Given the description of an element on the screen output the (x, y) to click on. 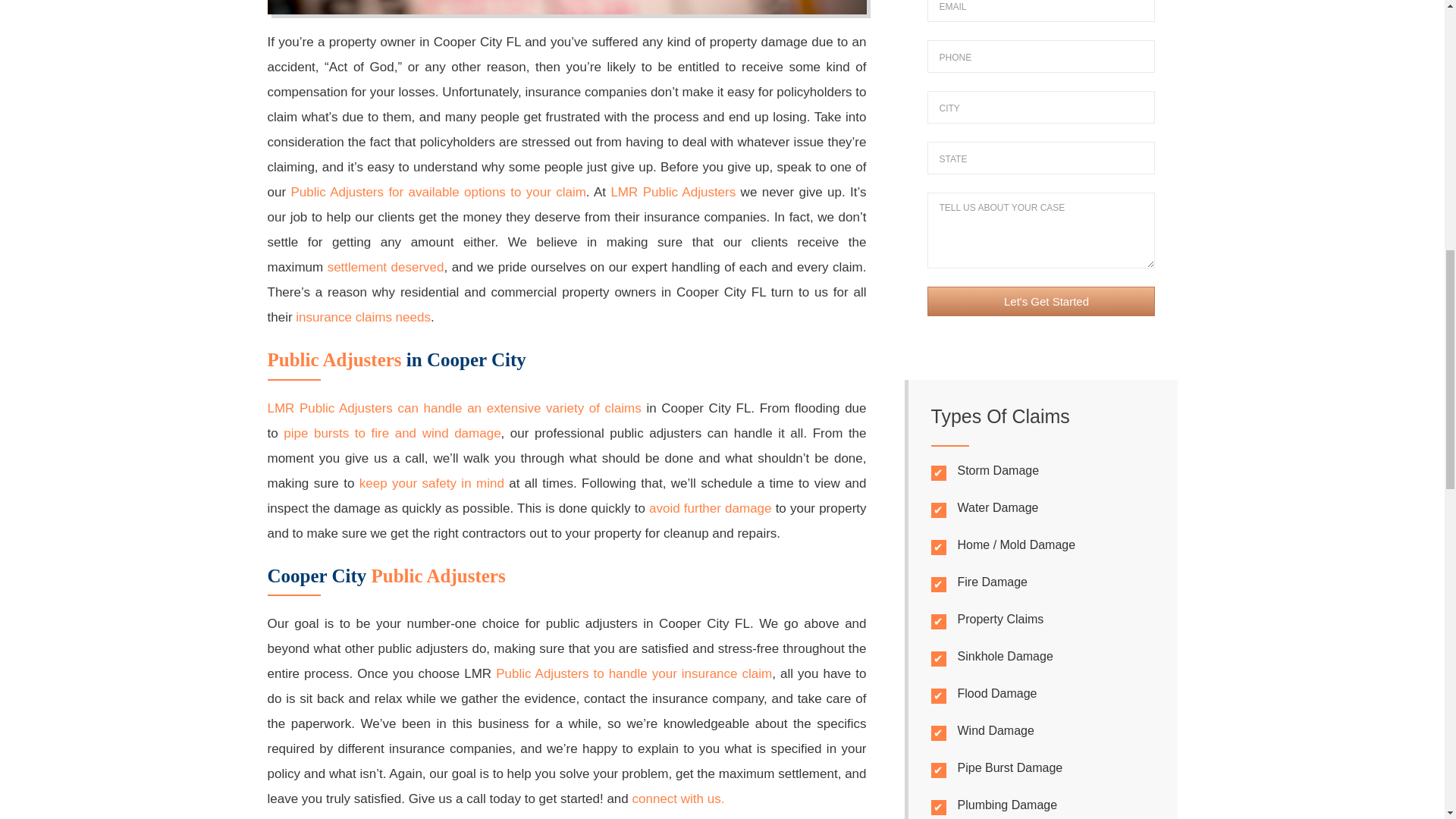
Let's Get Started (1040, 301)
